Given the description of an element on the screen output the (x, y) to click on. 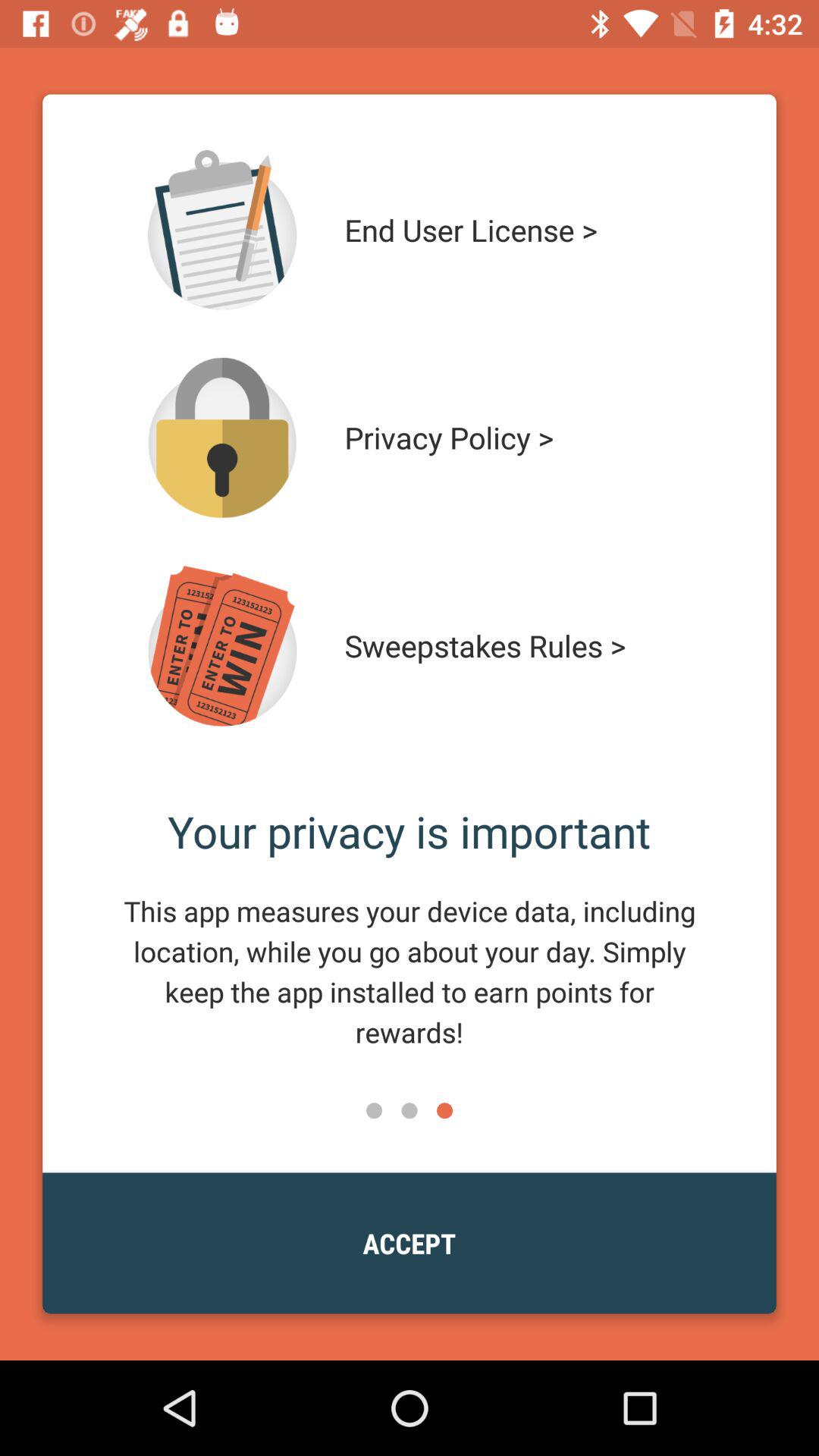
open another page (222, 645)
